Given the description of an element on the screen output the (x, y) to click on. 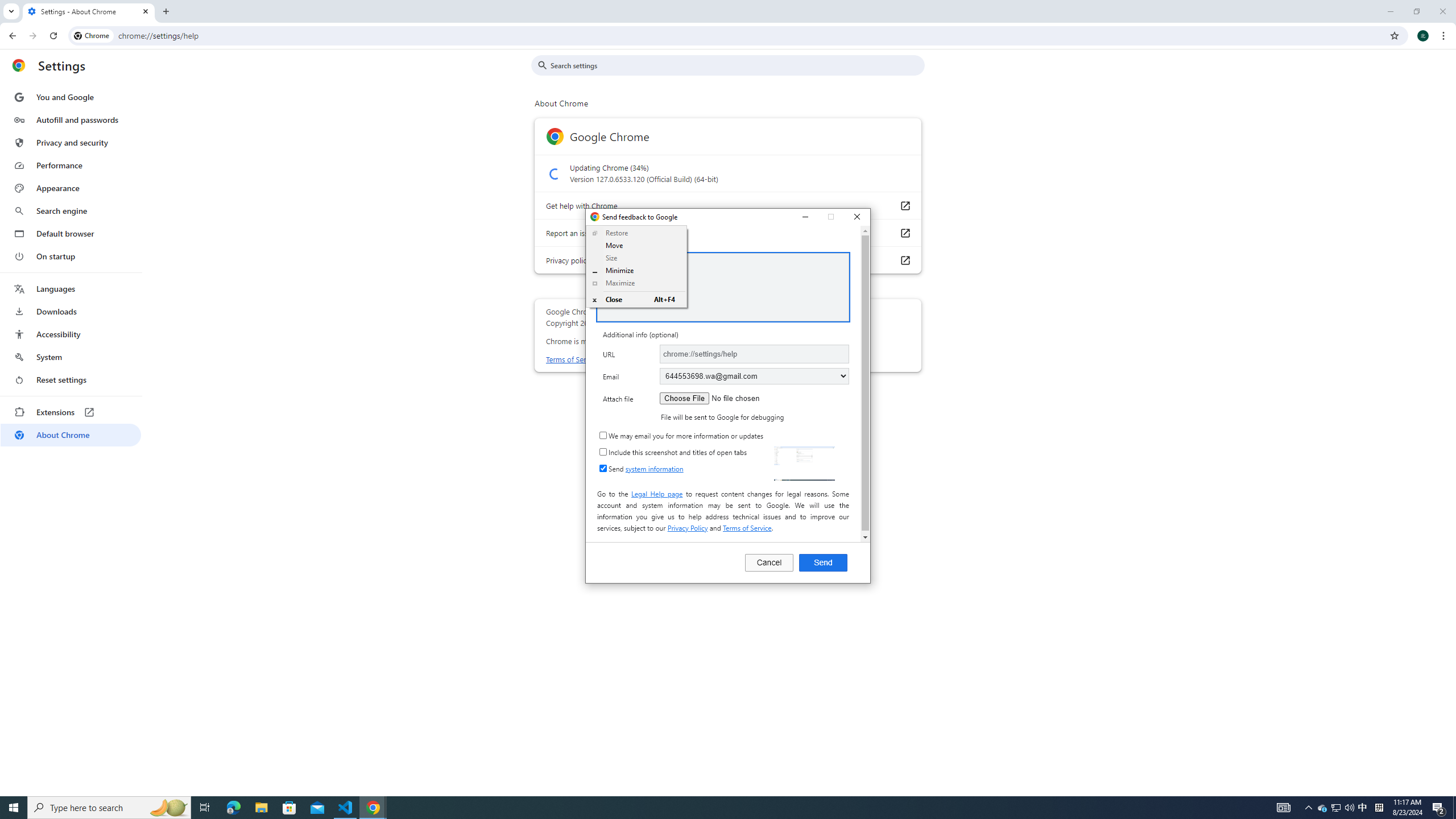
Accessibility (70, 333)
Running applications (700, 807)
Extensions (70, 412)
Get help with Chrome (904, 205)
Type here to search (108, 807)
Languages (70, 288)
Maximize (636, 282)
